Given the description of an element on the screen output the (x, y) to click on. 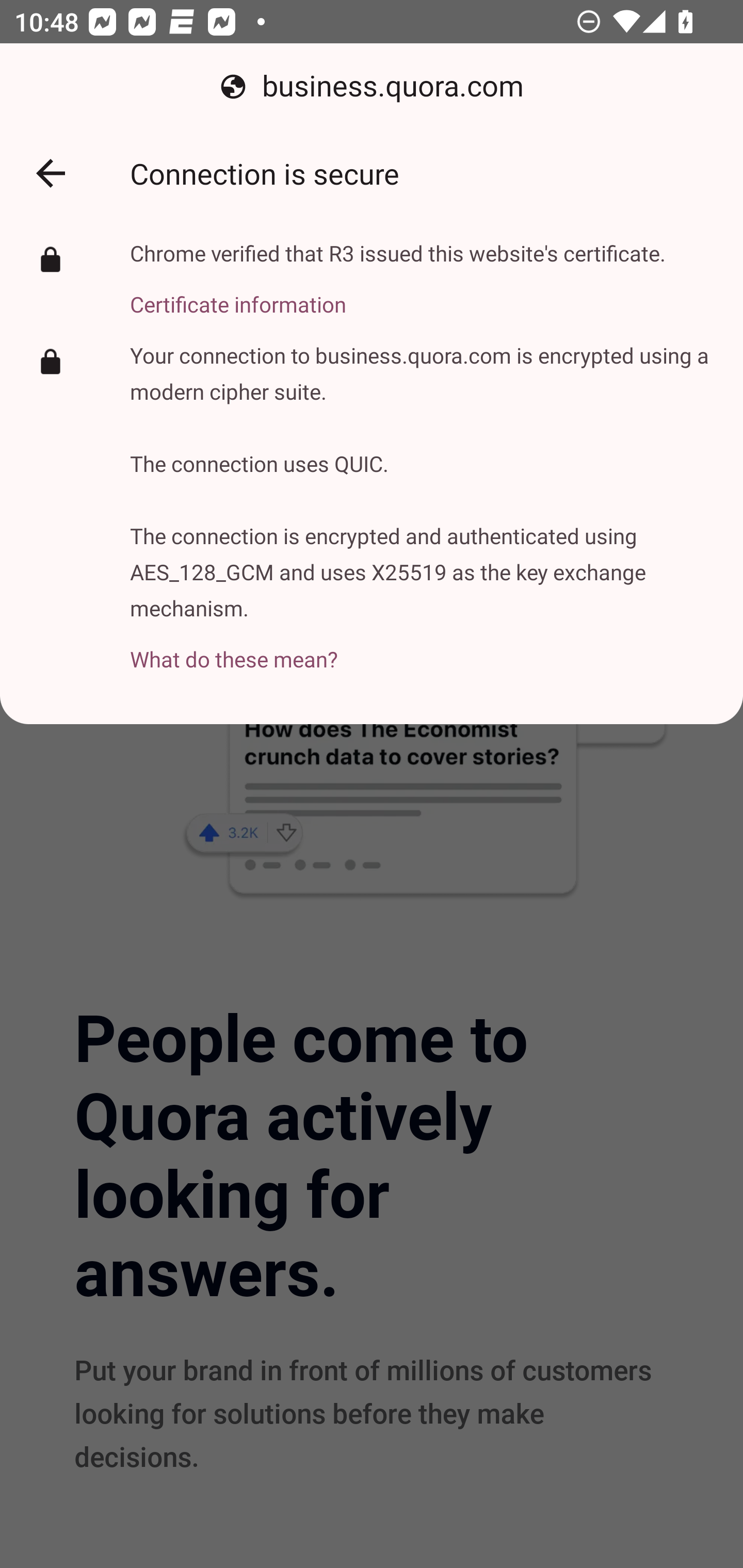
business.quora.com (371, 86)
Back (50, 173)
Certificate information (398, 293)
What do these mean? (422, 648)
